Given the description of an element on the screen output the (x, y) to click on. 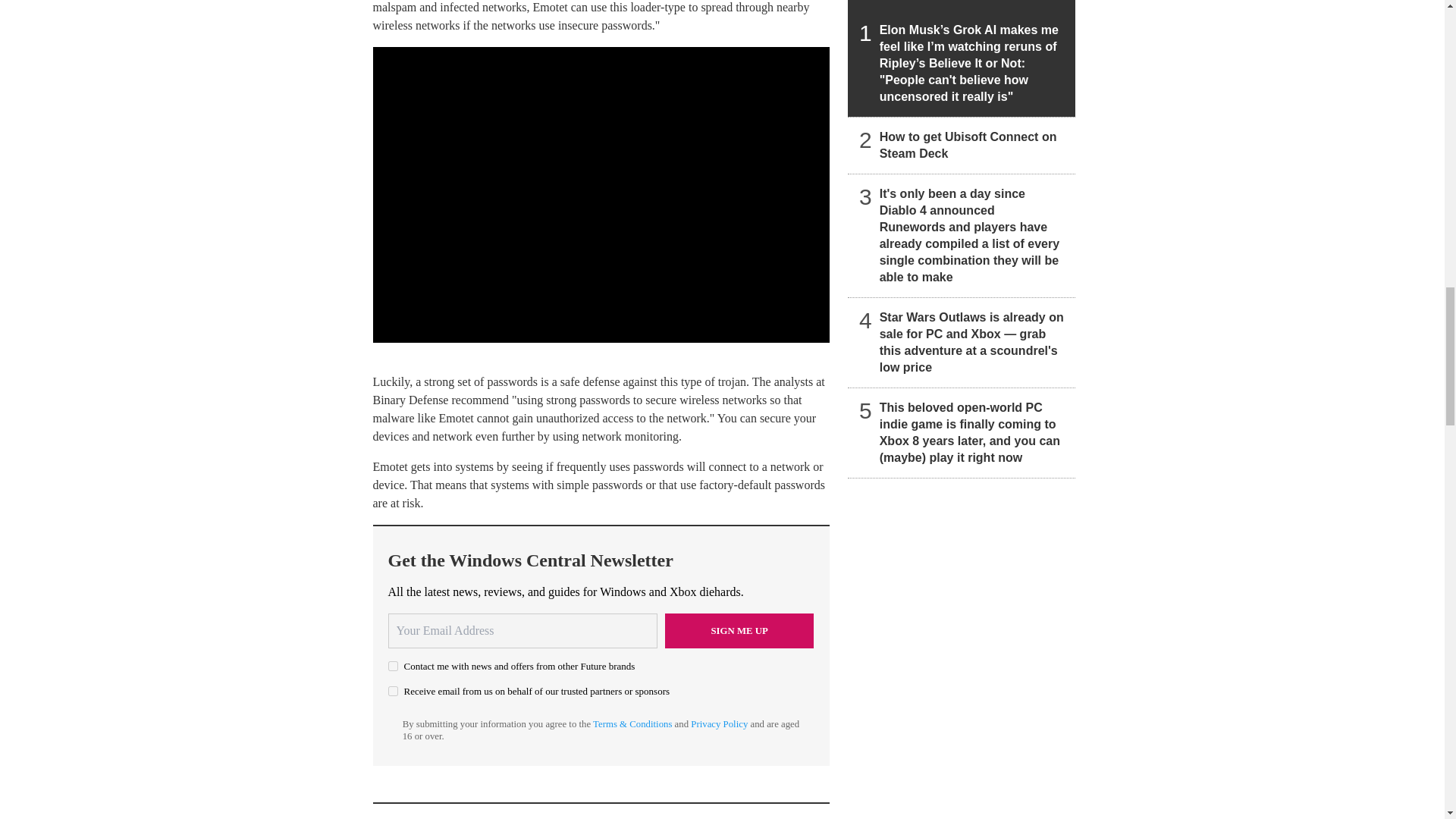
Sign me up (739, 630)
on (392, 665)
on (392, 691)
Privacy Policy (719, 724)
Sign me up (739, 630)
